Given the description of an element on the screen output the (x, y) to click on. 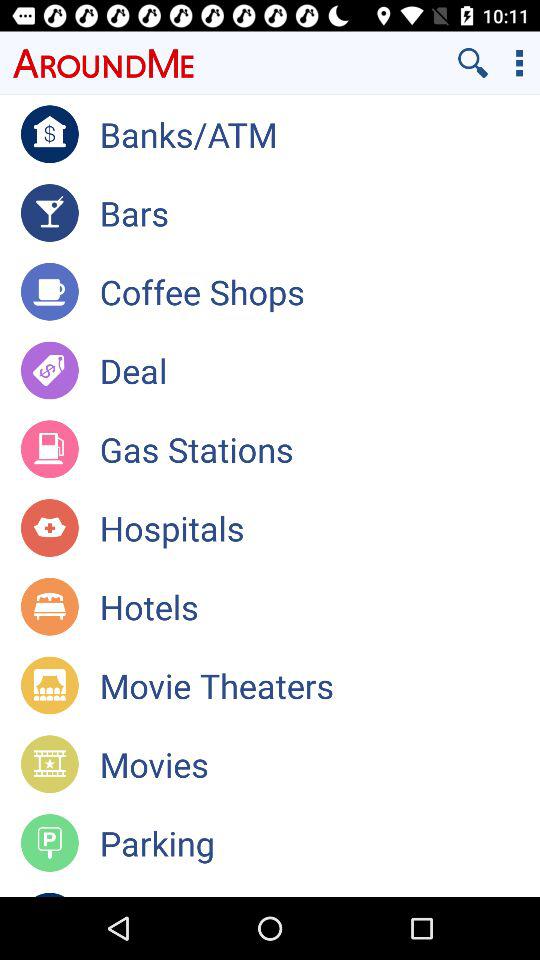
select app above the movie theaters item (319, 606)
